Given the description of an element on the screen output the (x, y) to click on. 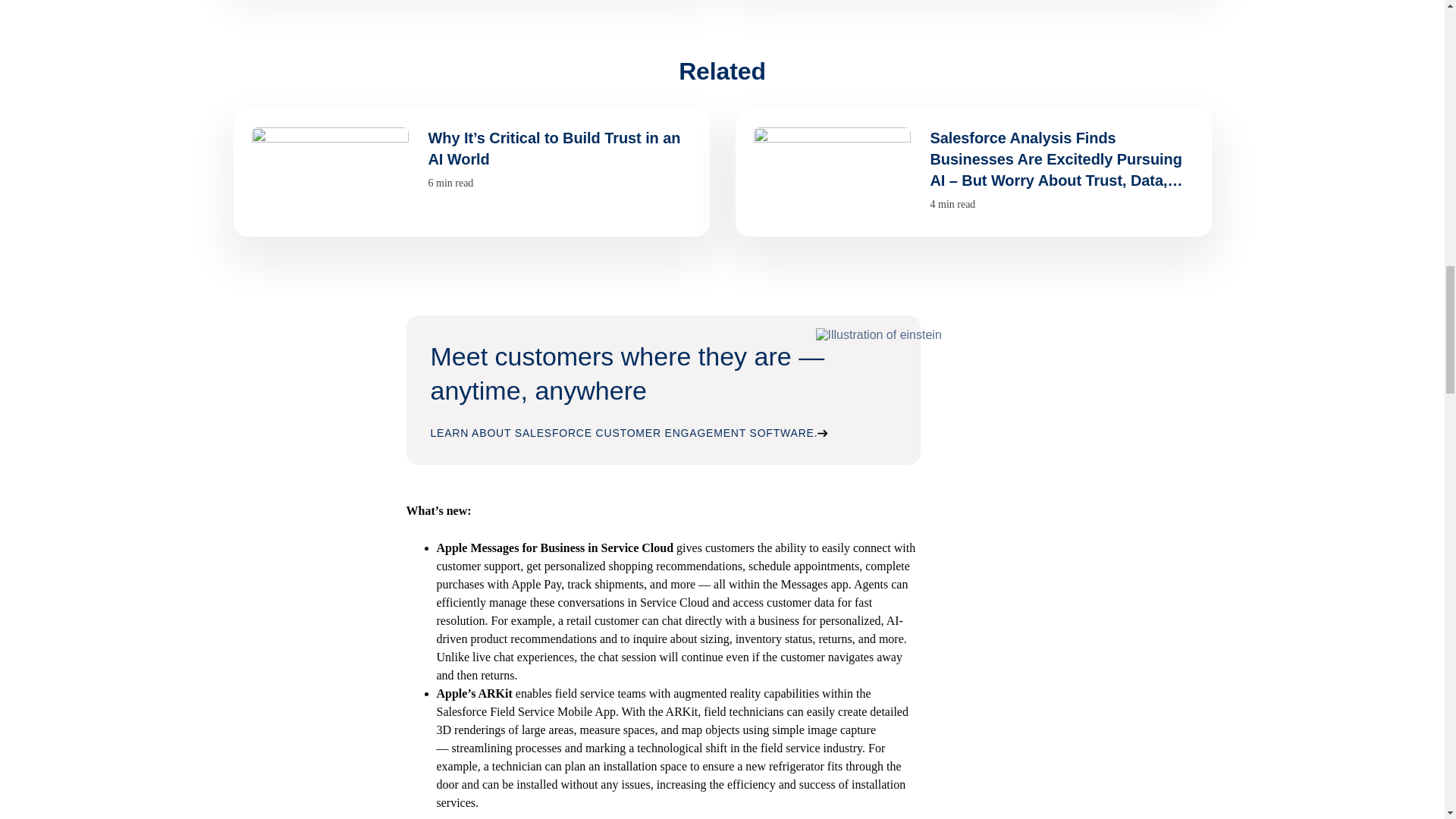
LEARN ABOUT SALESFORCE CUSTOMER ENGAGEMENT SOFTWARE. (629, 432)
